Given the description of an element on the screen output the (x, y) to click on. 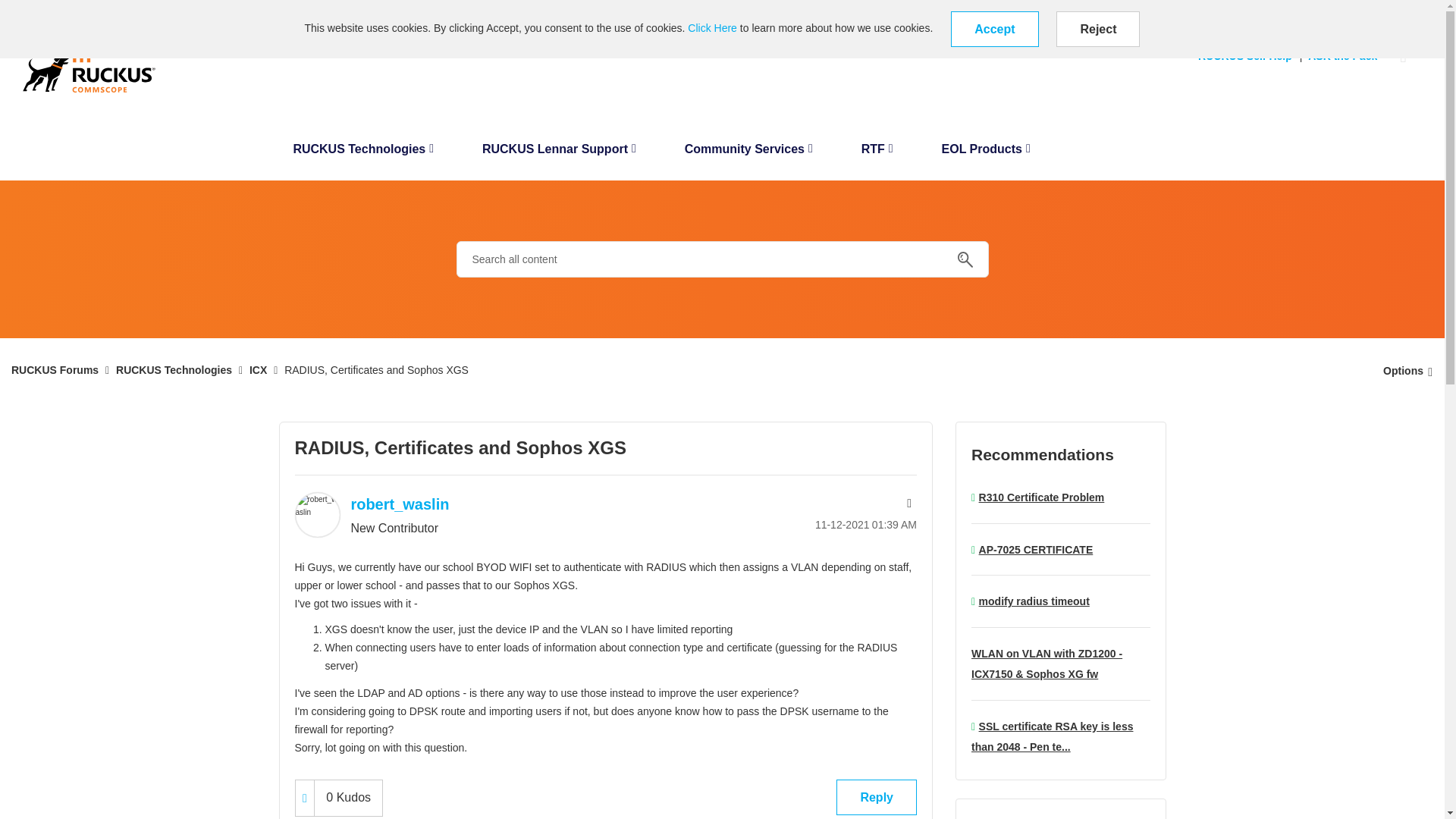
RUCKUS Lennar Support (558, 153)
ASK the Pack (1345, 55)
CommScope RUCKUS Community Forums (89, 67)
Community Services (748, 153)
RTF (876, 153)
Click here to give kudos to this post. (305, 797)
Show option menu (1402, 370)
RUCKUS Self Help (1249, 55)
Search (964, 258)
Search (722, 258)
Search (964, 258)
The total number of kudos this post has received. (347, 797)
BACK TO SUPPORT PORTAL (74, 10)
Accept (994, 28)
RUCKUS Technologies (363, 153)
